Given the description of an element on the screen output the (x, y) to click on. 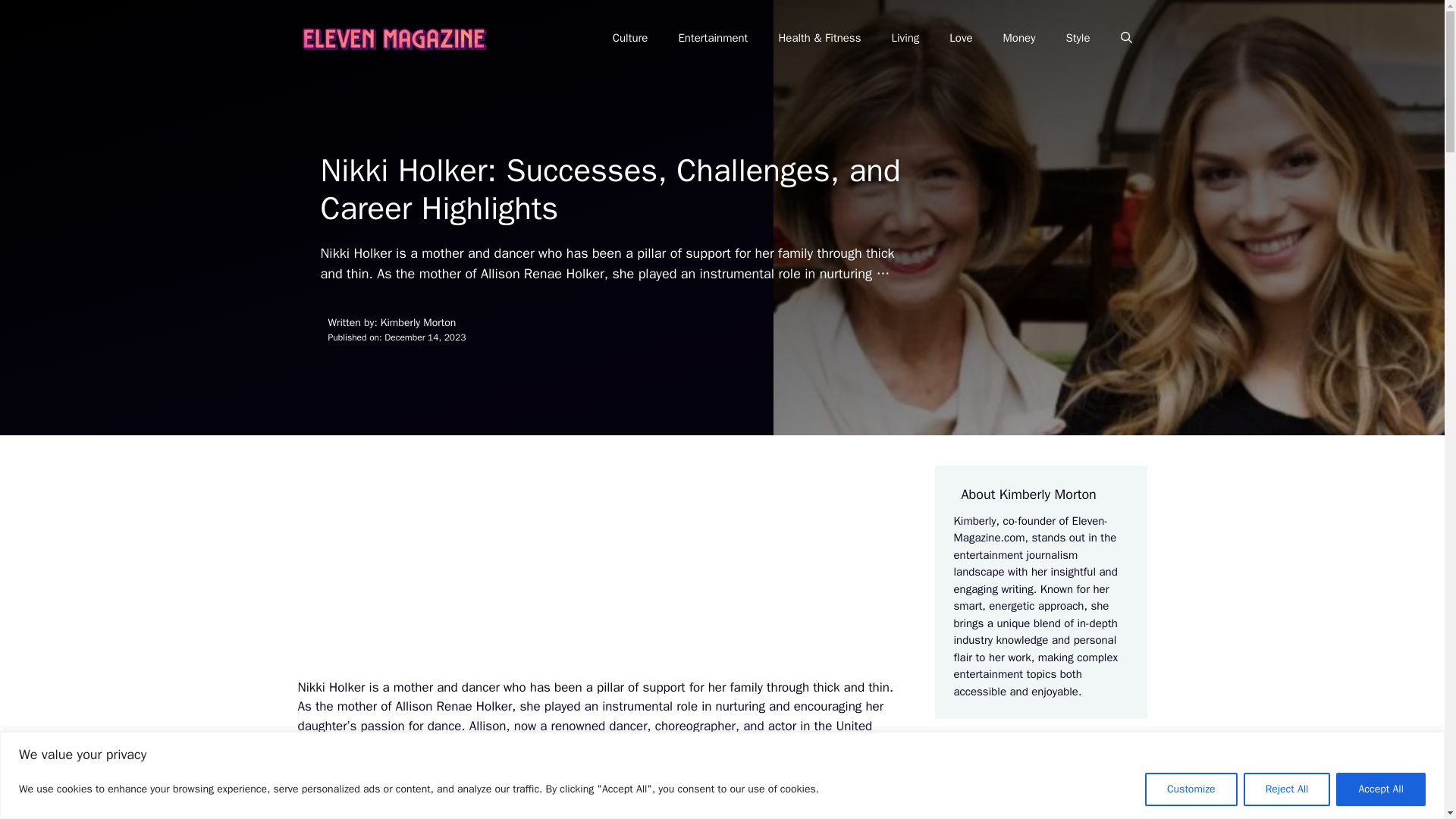
Living (905, 37)
Advertisement (600, 572)
Accept All (1380, 788)
Culture (629, 37)
Money (1019, 37)
Love (960, 37)
Entertainment (712, 37)
Reject All (1286, 788)
Customize (1190, 788)
Style (1077, 37)
